Given the description of an element on the screen output the (x, y) to click on. 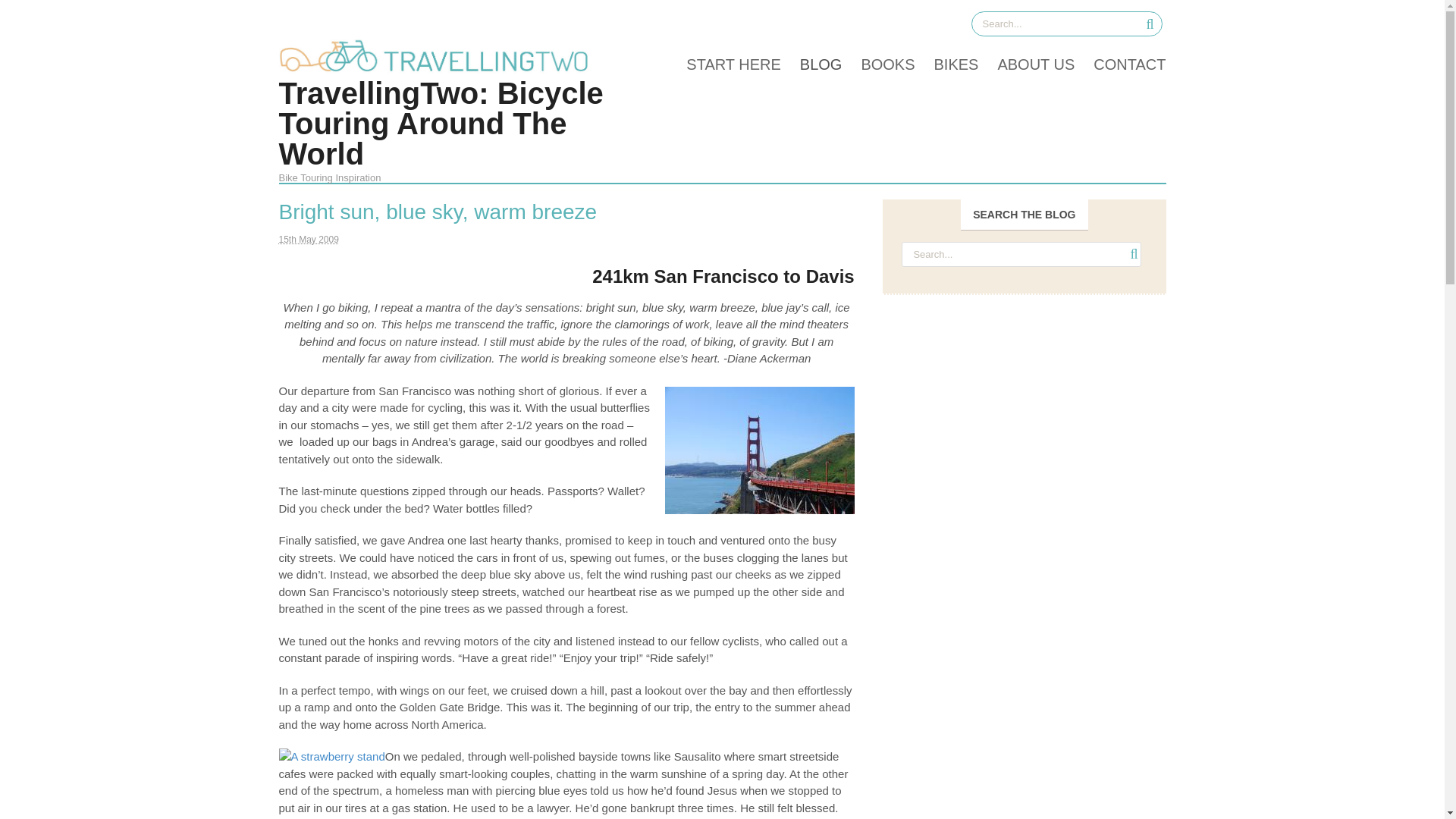
BIKES (946, 64)
CONTACT (1120, 64)
A strawberry stand (332, 756)
Search... (1021, 253)
ABOUT US (1026, 64)
Looking back at the bridge (759, 450)
Search... (1063, 24)
Bike Touring Inspiration (437, 70)
BLOG (811, 64)
TravellingTwo: Bicycle Touring Around The World (441, 123)
BOOKS (877, 64)
START HERE (723, 64)
